Given the description of an element on the screen output the (x, y) to click on. 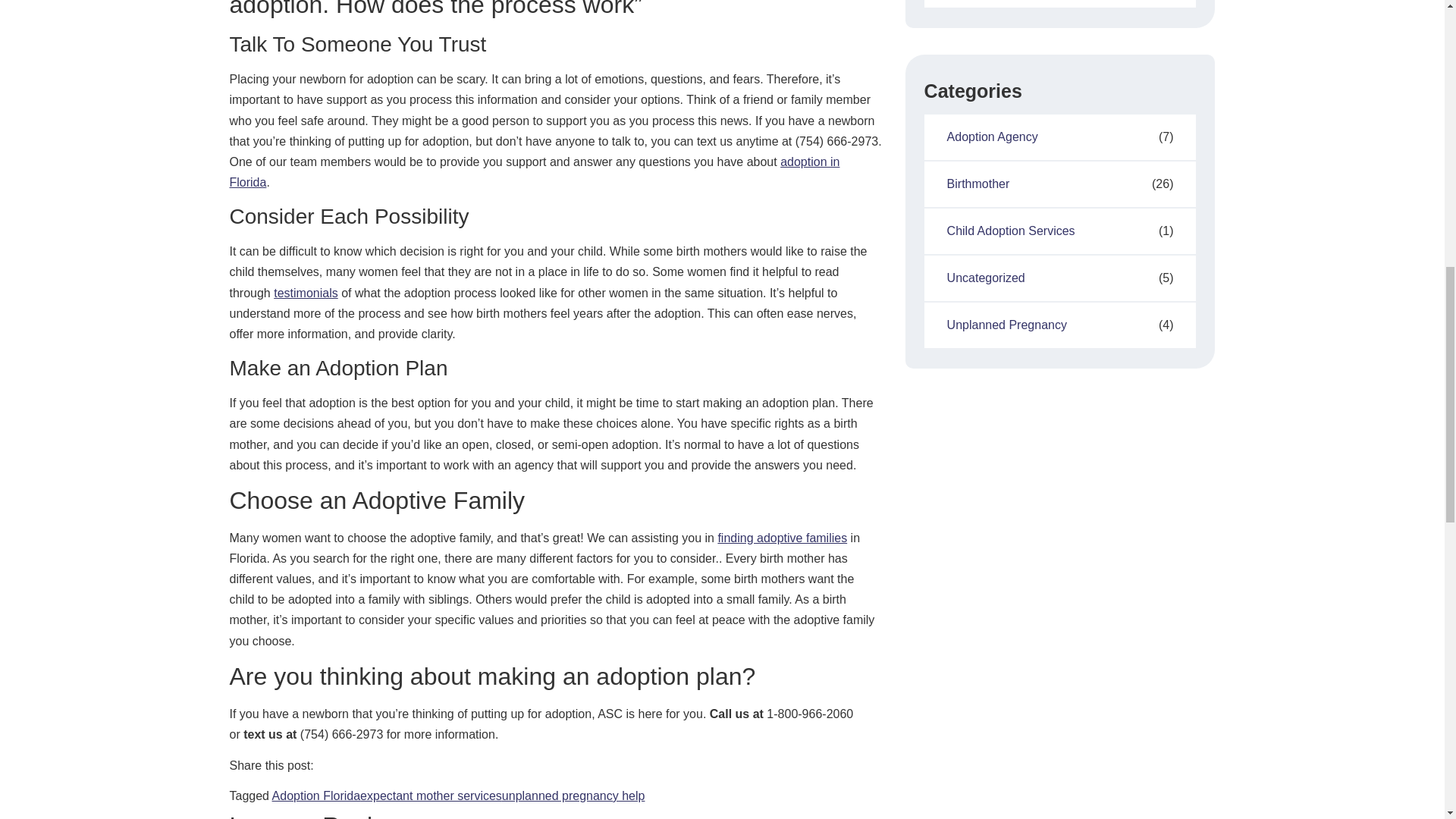
expectant mother services (430, 795)
adoption in Florida (534, 172)
finding adoptive families (782, 537)
testimonials (305, 292)
unplanned pregnancy help (573, 795)
Adoption Florida (316, 795)
